Given the description of an element on the screen output the (x, y) to click on. 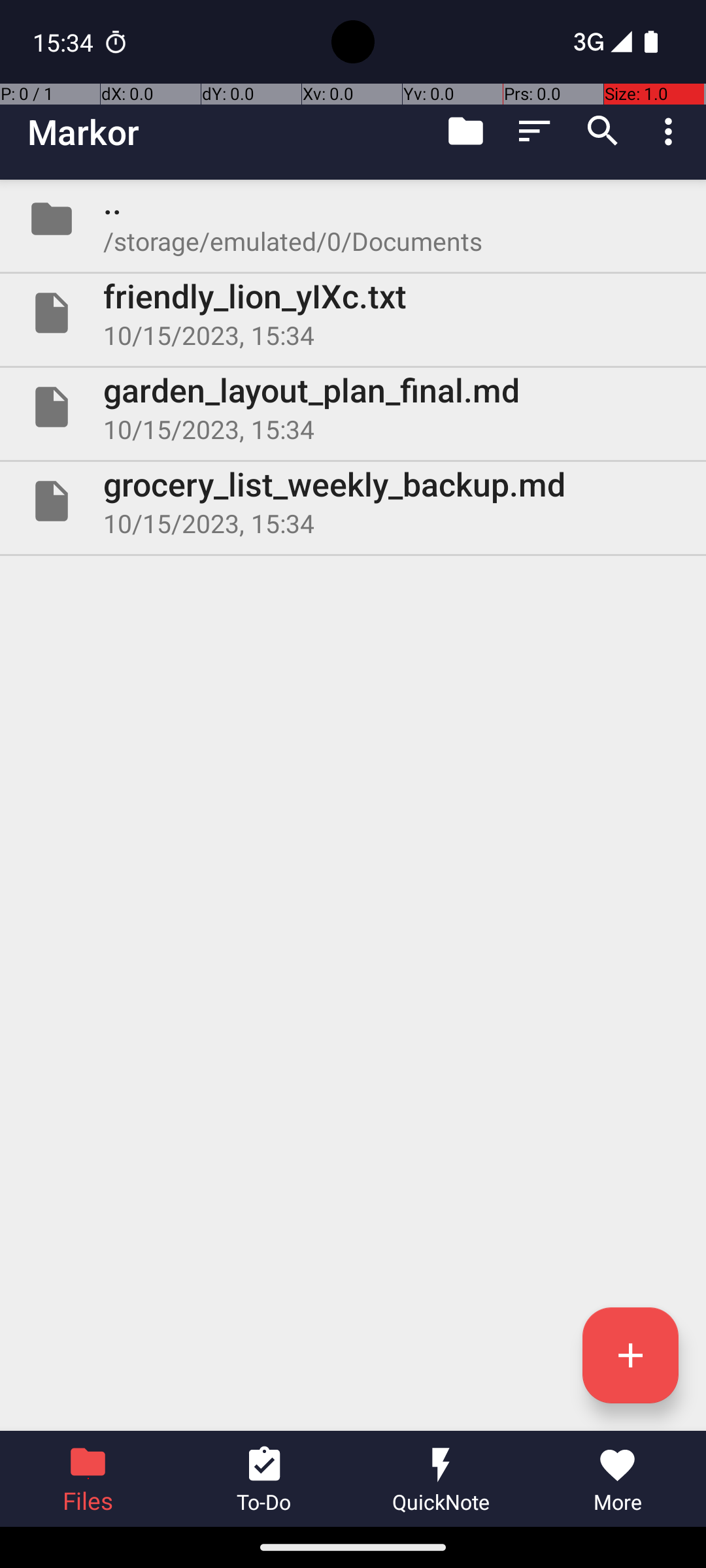
File friendly_lion_yIXc.txt  Element type: android.widget.LinearLayout (353, 312)
File garden_layout_plan_final.md  Element type: android.widget.LinearLayout (353, 406)
File grocery_list_weekly_backup.md  Element type: android.widget.LinearLayout (353, 500)
